Given the description of an element on the screen output the (x, y) to click on. 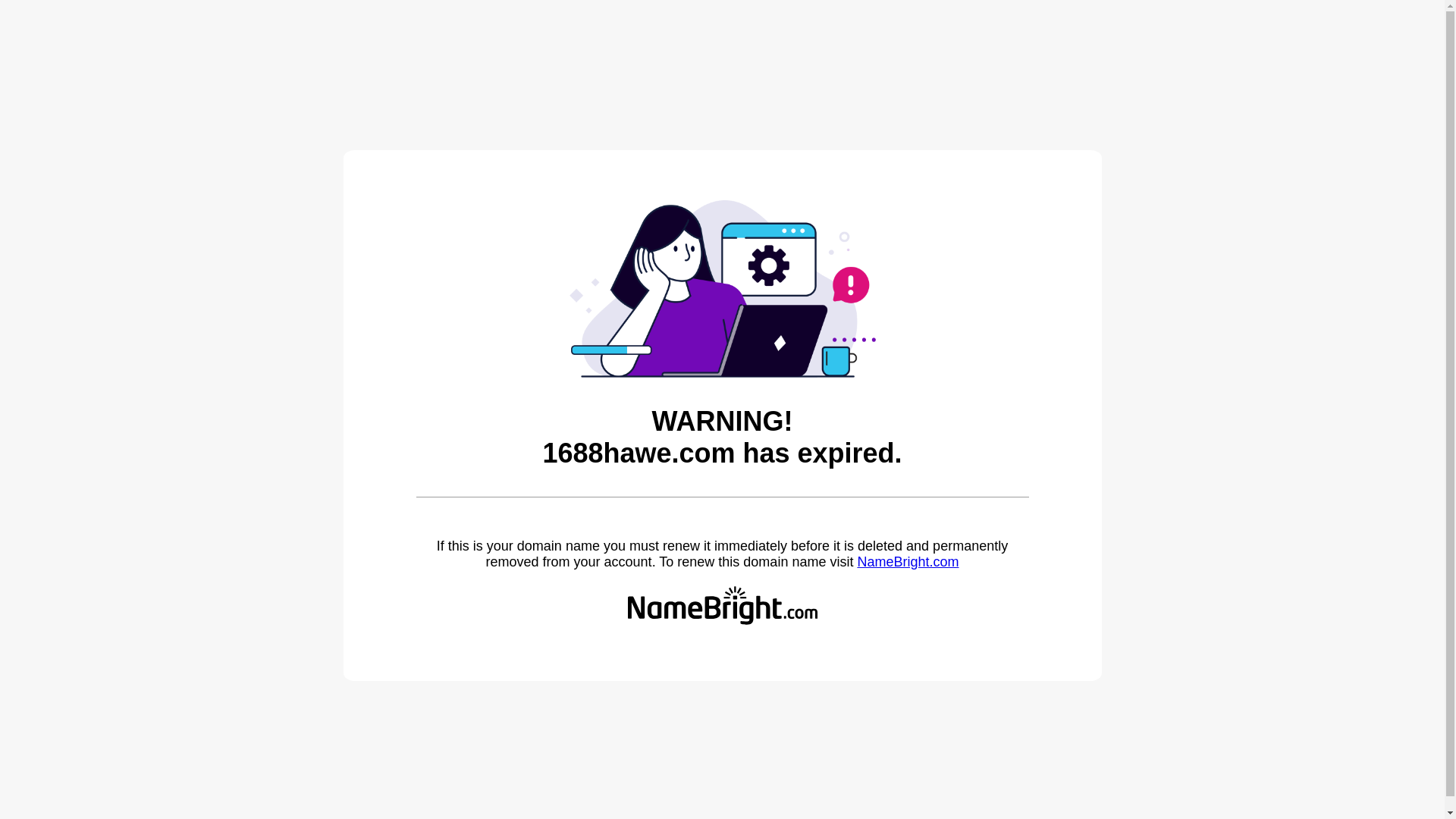
NameBright.com Element type: text (907, 561)
